Given the description of an element on the screen output the (x, y) to click on. 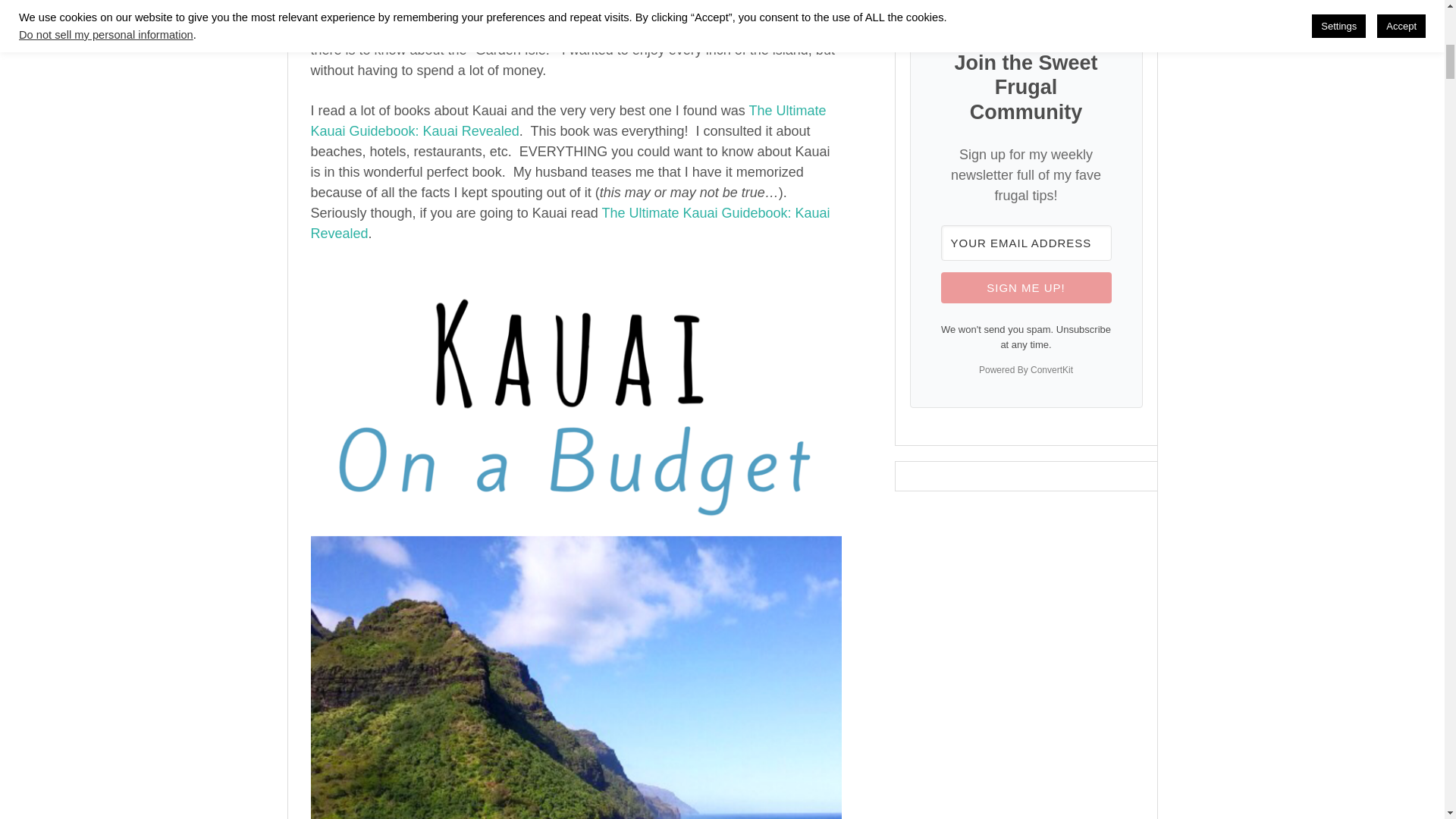
The Ultimate Kauai Guidebook: Kauai Revealed (570, 222)
The Ultimate Kauai Guidebook: Kauai Revealed (569, 120)
